Given the description of an element on the screen output the (x, y) to click on. 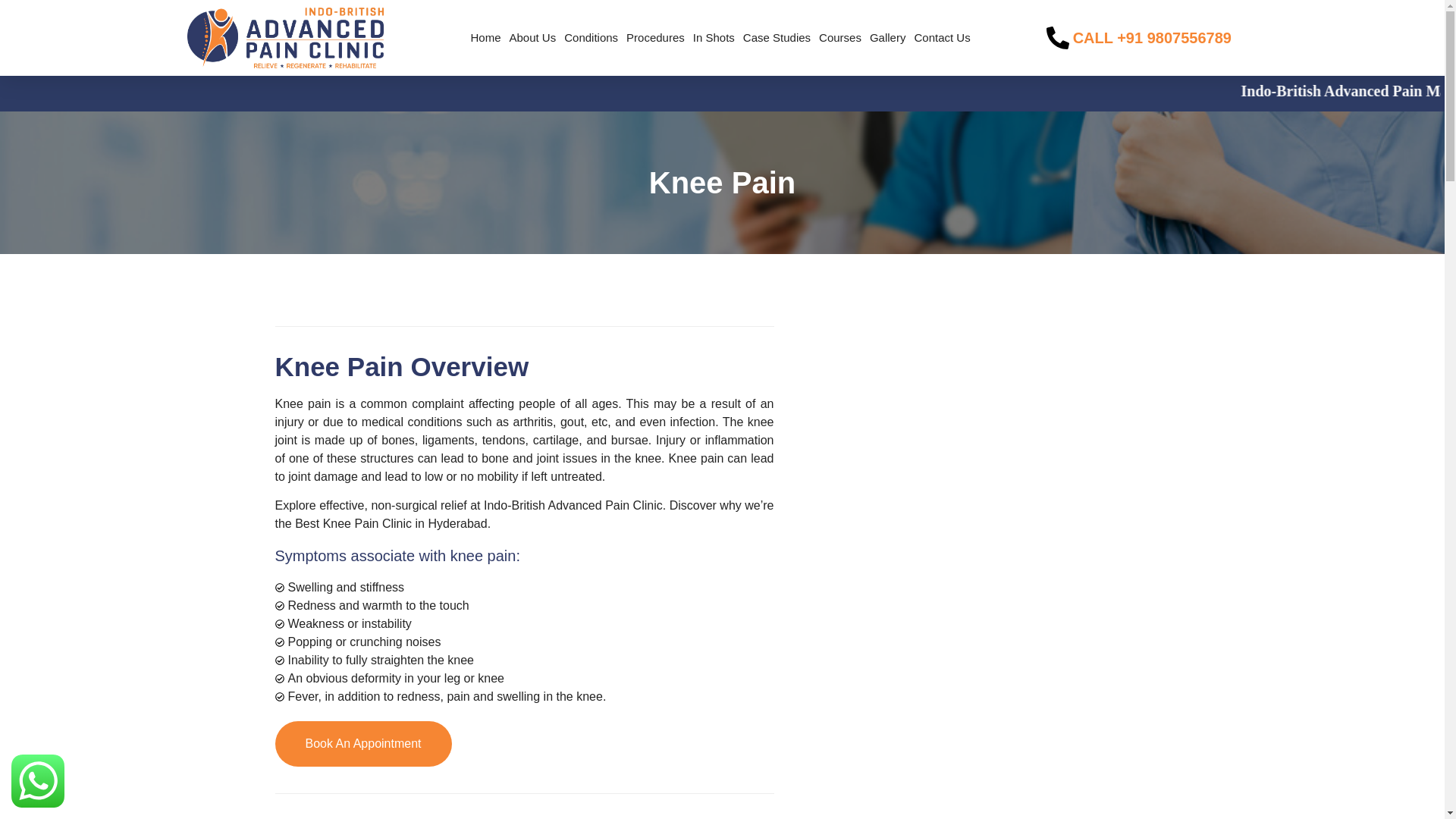
Conditions (590, 37)
Contact Us (941, 37)
Case Studies (776, 37)
Courses (839, 37)
About Us (532, 37)
Home (484, 37)
In Shots (714, 37)
Procedures (655, 37)
Gallery (888, 37)
